Given the description of an element on the screen output the (x, y) to click on. 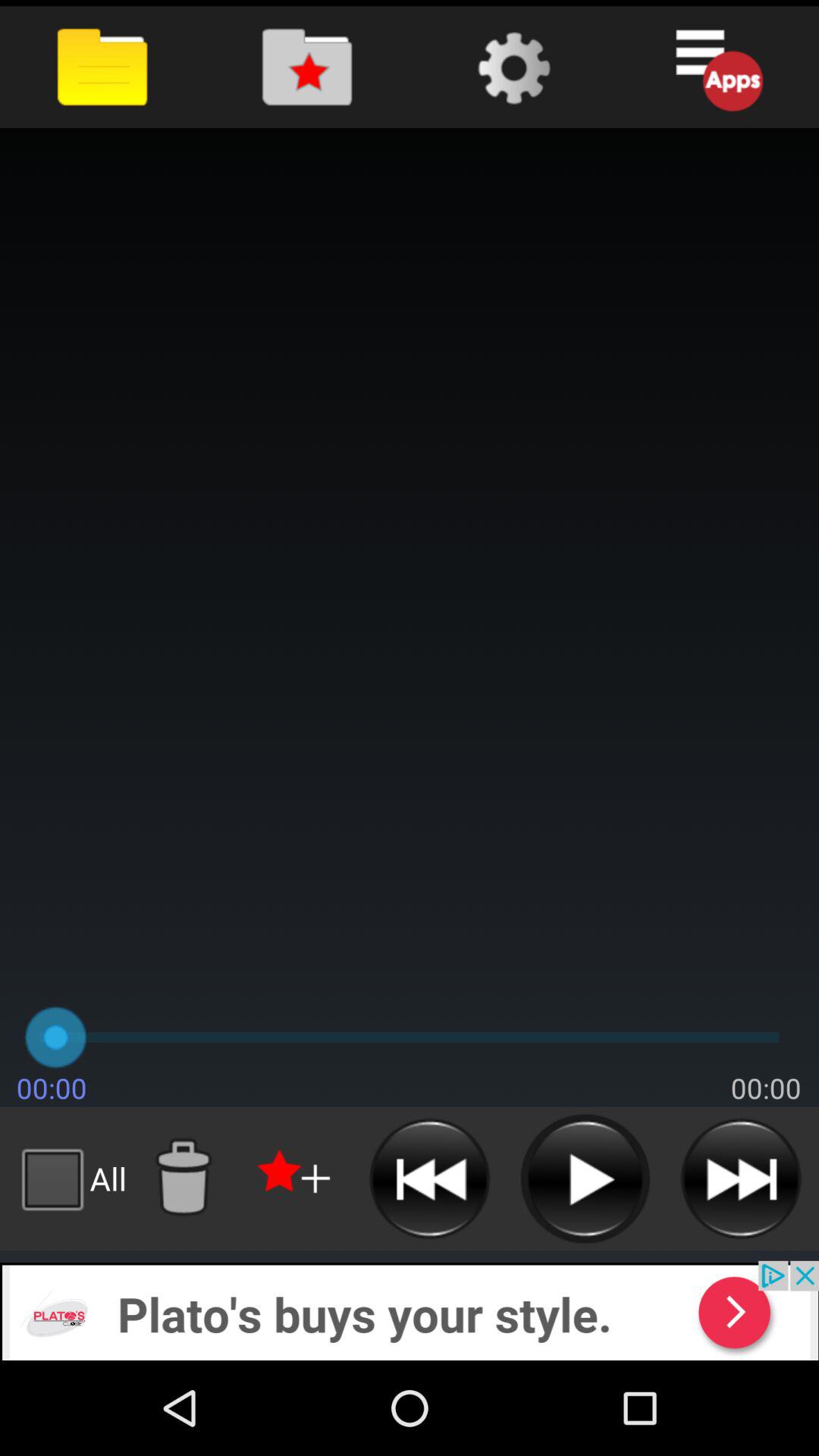
settings (511, 66)
